Given the description of an element on the screen output the (x, y) to click on. 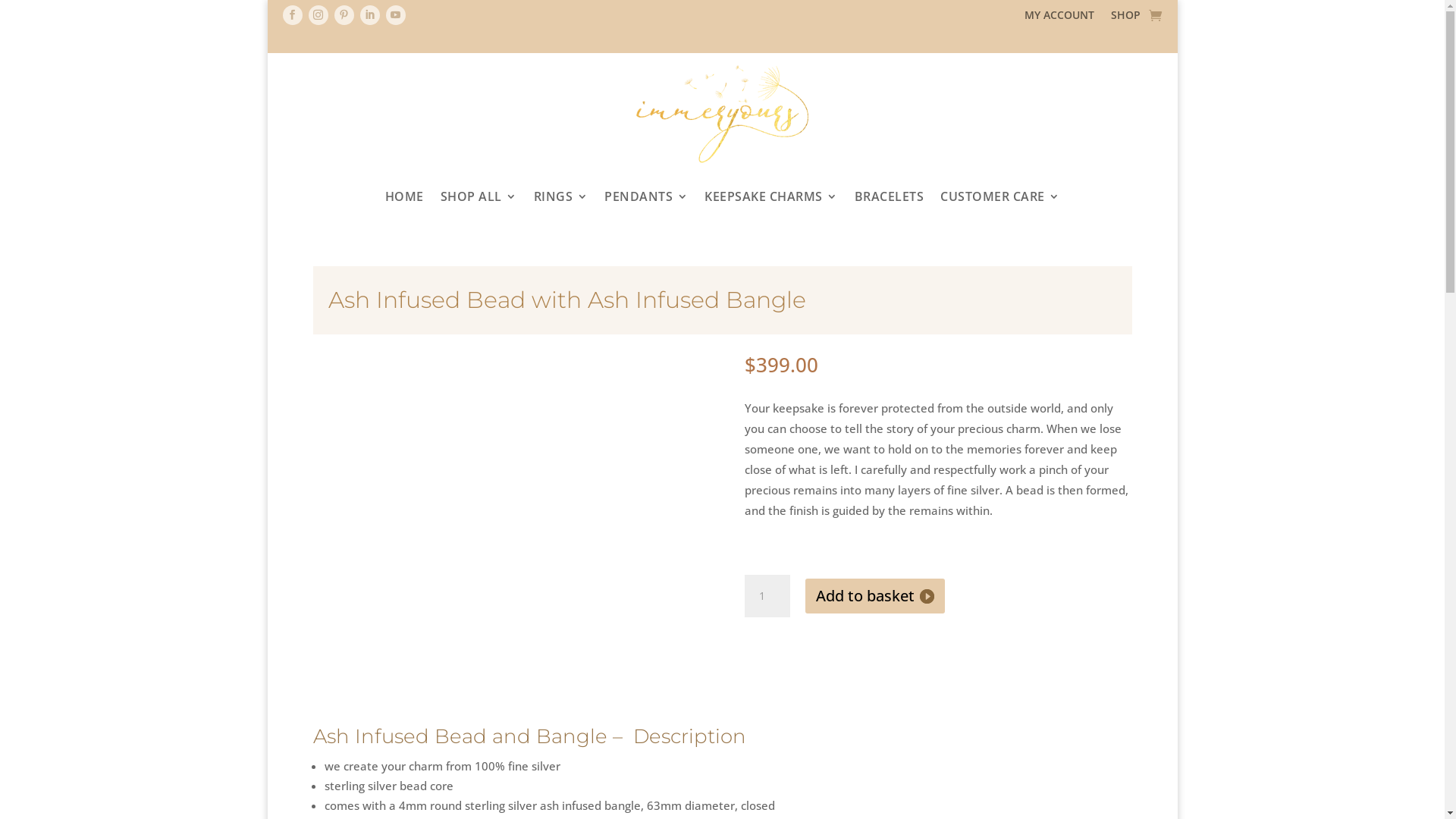
SHOP Element type: text (1124, 17)
KEEPSAKE CHARMS Element type: text (770, 196)
PENDANTS Element type: text (645, 196)
RINGS Element type: text (560, 196)
BRACELETS Element type: text (888, 196)
MY ACCOUNT Element type: text (1058, 17)
Add to basket Element type: text (874, 595)
HOME Element type: text (404, 196)
CUSTOMER CARE Element type: text (1000, 196)
Follow on Facebook Element type: hover (291, 15)
SHOP ALL Element type: text (477, 196)
Follow on Instagram Element type: hover (317, 15)
Follow on LinkedIn Element type: hover (369, 15)
Follow on Pinterest Element type: hover (343, 15)
Follow on Youtube Element type: hover (394, 15)
